Given the description of an element on the screen output the (x, y) to click on. 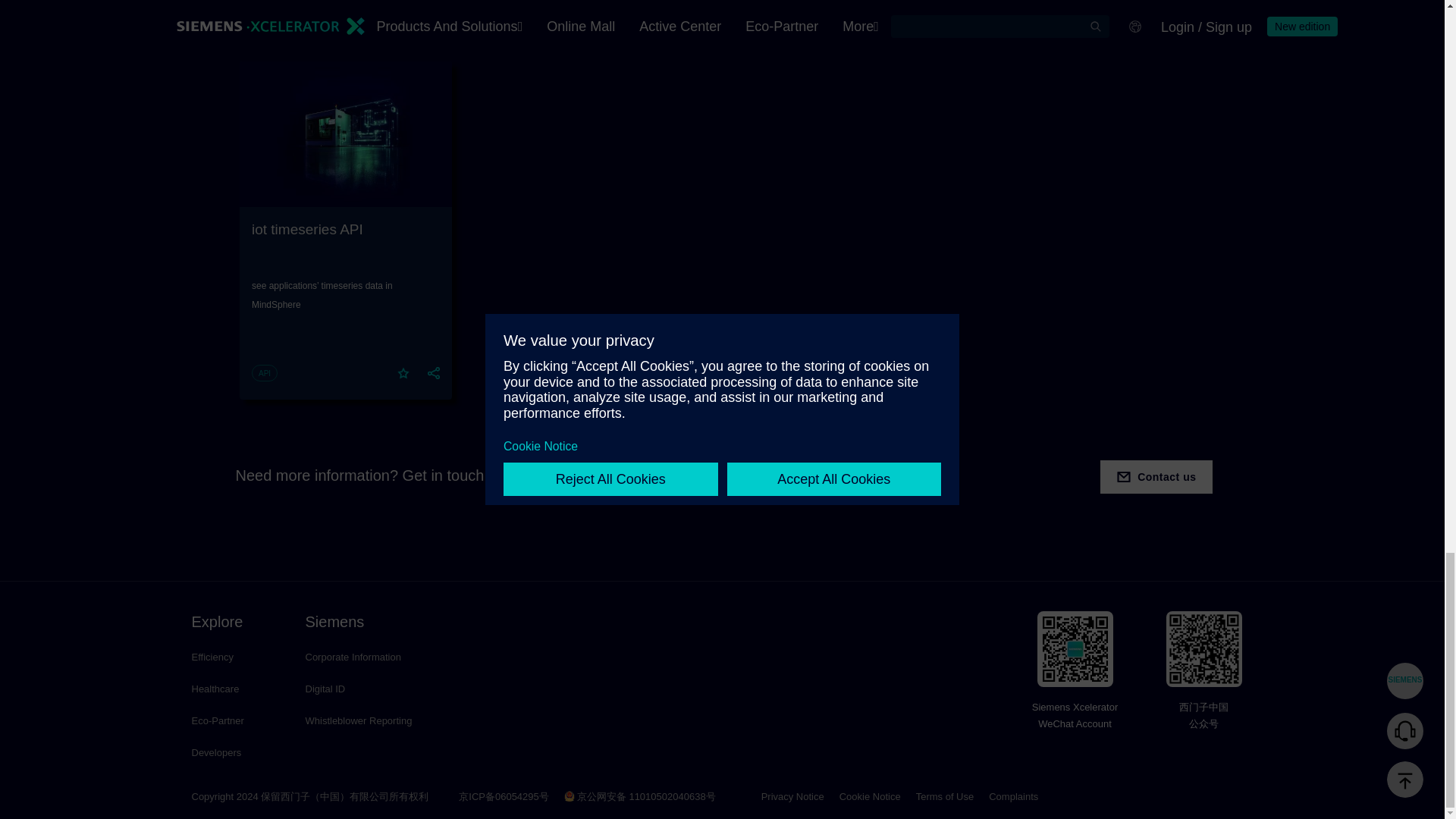
Developers (232, 753)
Digital ID (358, 689)
Healthcare (232, 689)
Eco-Partner (232, 721)
Contact us (1155, 476)
Efficiency (232, 657)
Whistleblower Reporting (358, 721)
Corporate Information (358, 657)
